Given the description of an element on the screen output the (x, y) to click on. 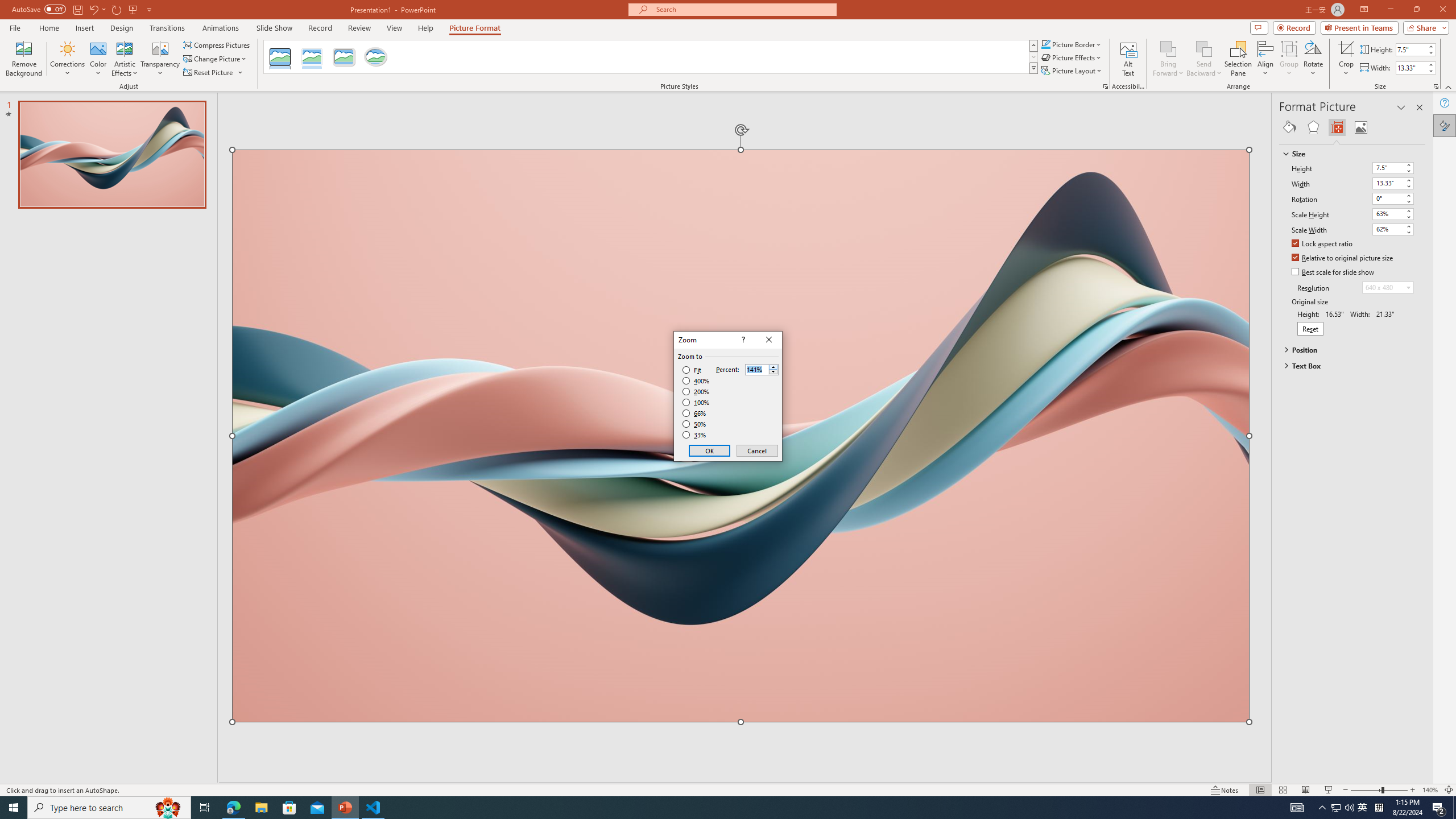
Fill & Line (1288, 126)
Picture Layout (1072, 69)
Picture Format (475, 28)
Picture Border Blue, Accent 1 (1045, 44)
Remove Background (23, 58)
Rotate (1312, 58)
Format Picture (1444, 125)
Reset Picture (208, 72)
